Given the description of an element on the screen output the (x, y) to click on. 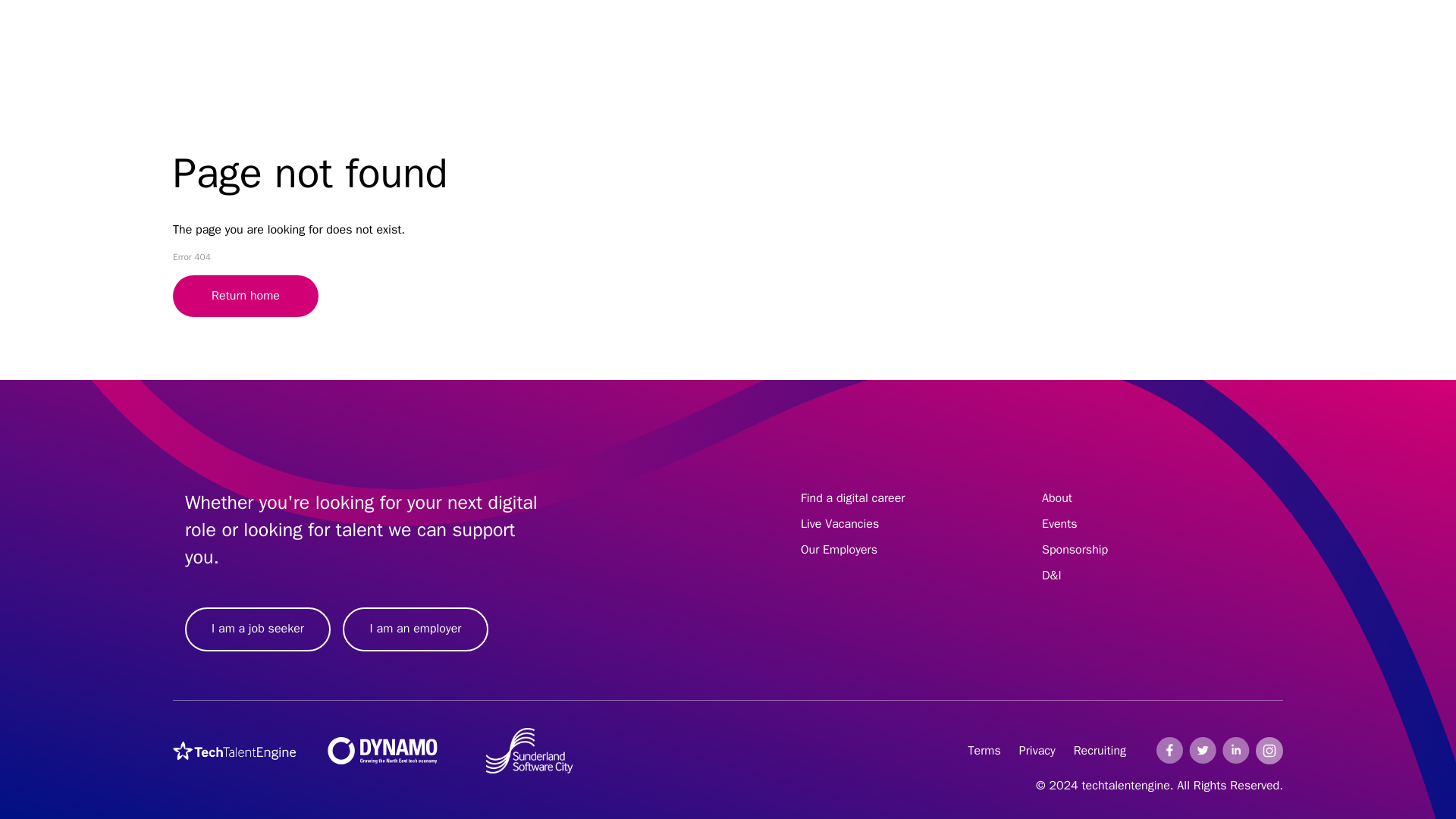
Return home (245, 295)
I am a job seeker (257, 629)
